Given the description of an element on the screen output the (x, y) to click on. 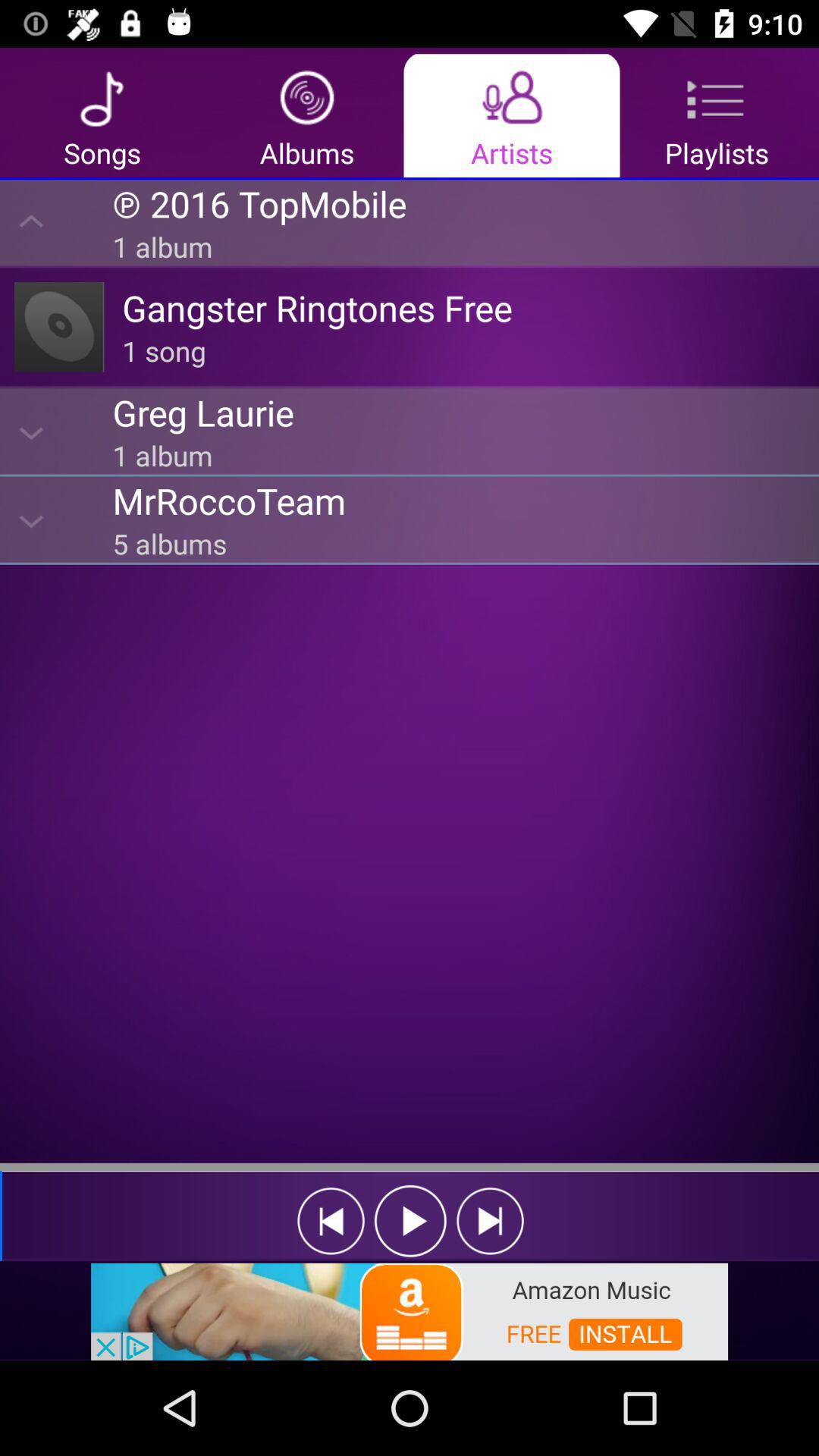
see sponsored content (409, 1310)
